Given the description of an element on the screen output the (x, y) to click on. 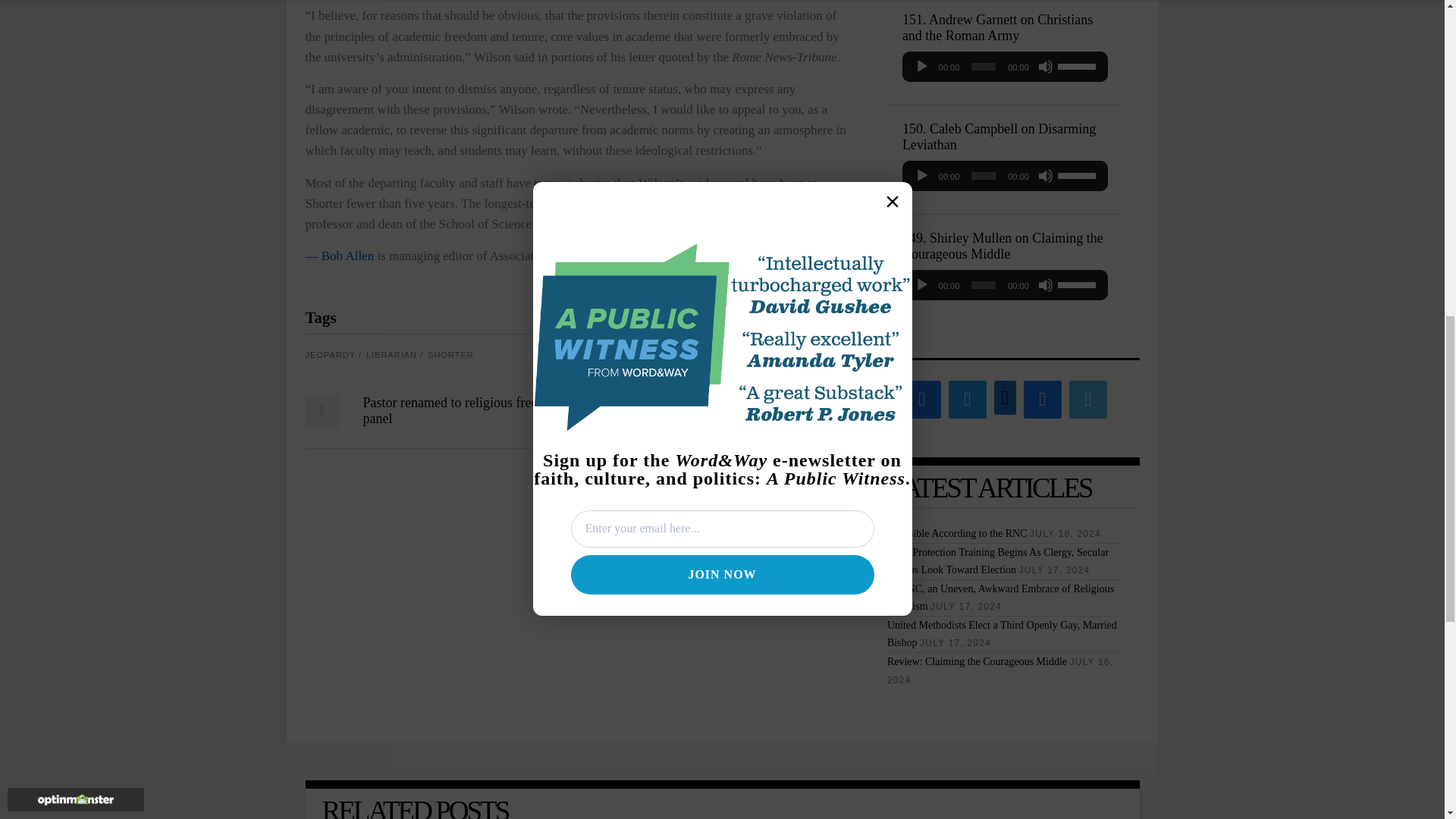
Mute (1045, 66)
Play (922, 175)
Play (922, 66)
Mute (1045, 175)
